Given the description of an element on the screen output the (x, y) to click on. 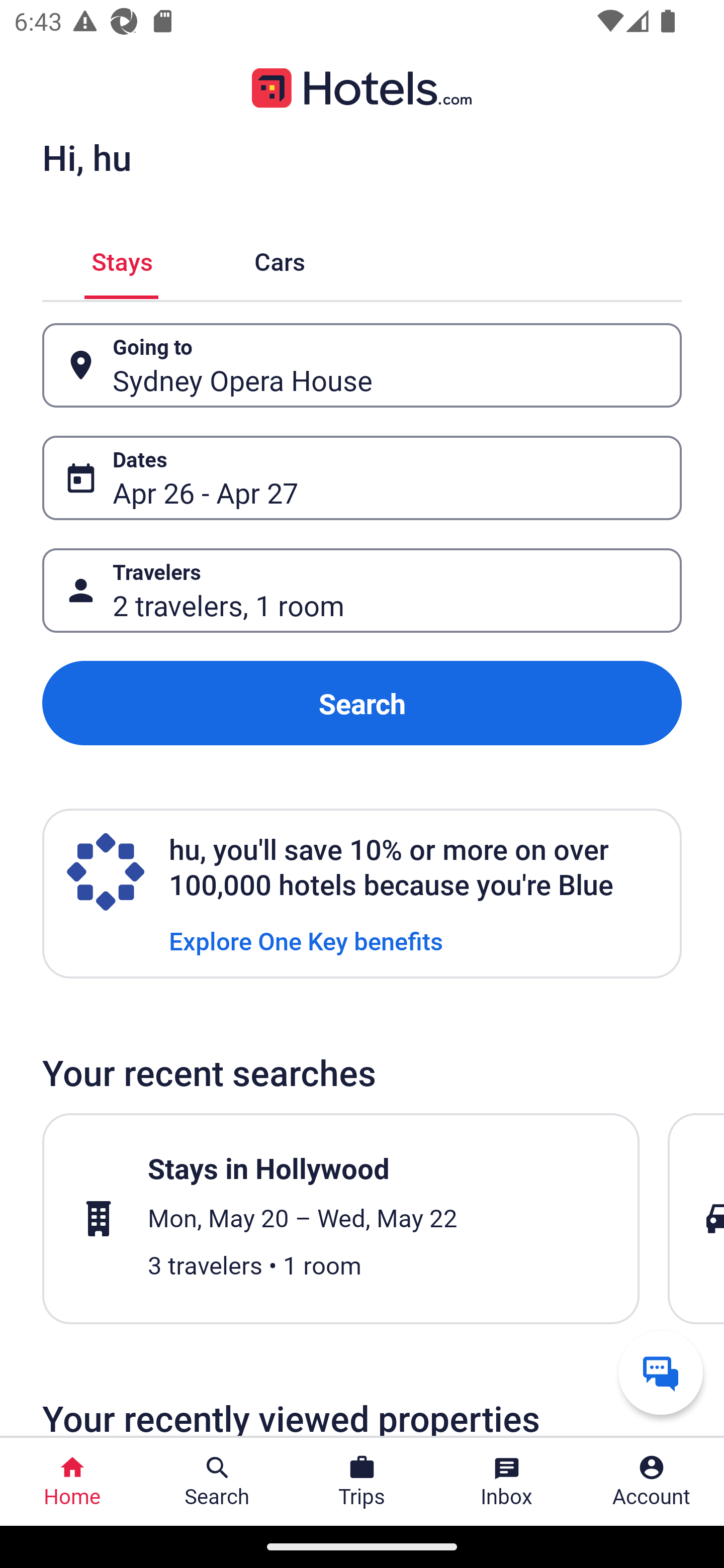
Hi, hu (86, 156)
Cars (279, 259)
Going to Button Sydney Opera House (361, 365)
Dates Button Apr 26 - Apr 27 (361, 477)
Travelers Button 2 travelers, 1 room (361, 590)
Search (361, 702)
Get help from a virtual agent (660, 1371)
Search Search Button (216, 1481)
Trips Trips Button (361, 1481)
Inbox Inbox Button (506, 1481)
Account Profile. Button (651, 1481)
